Given the description of an element on the screen output the (x, y) to click on. 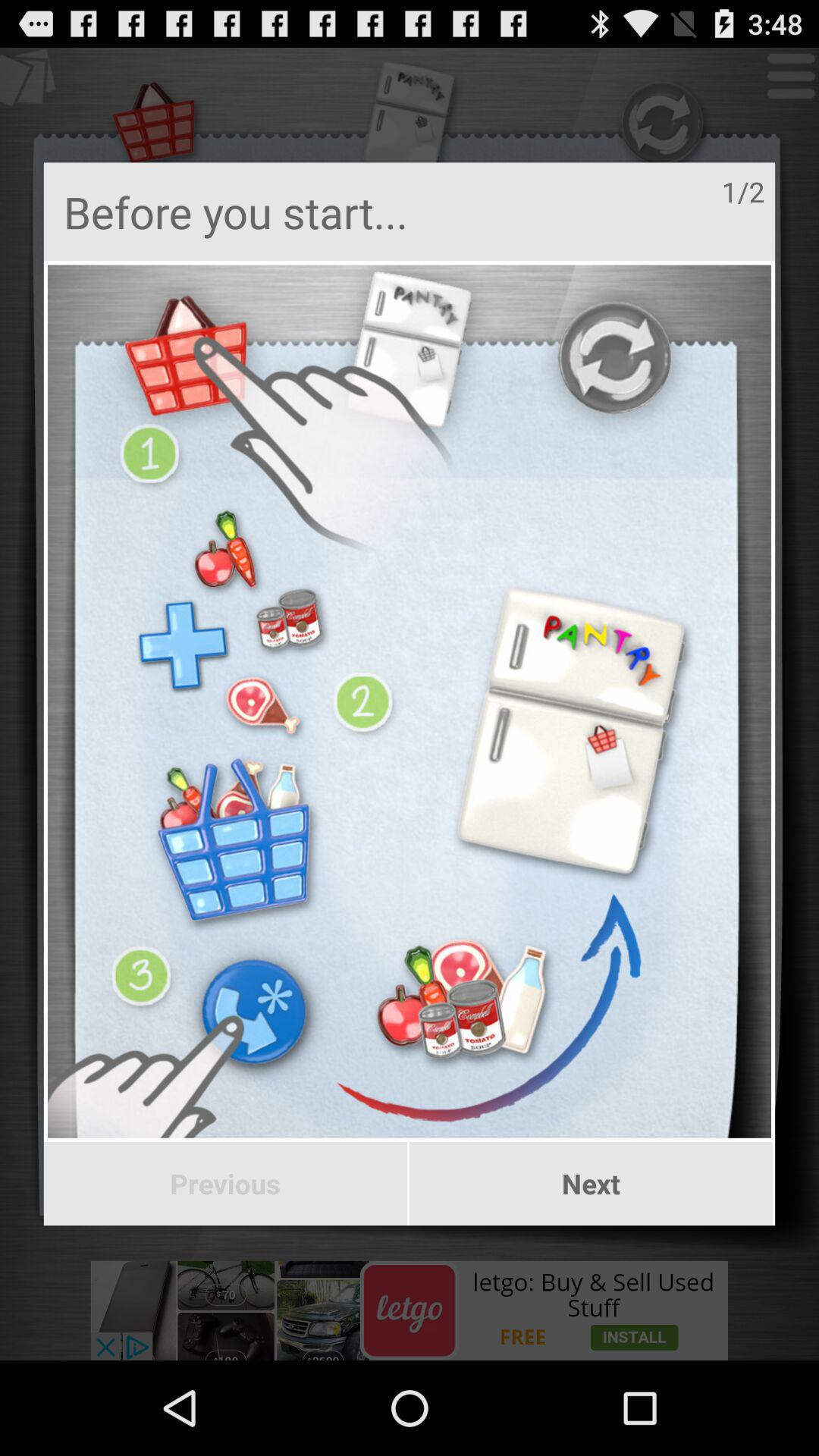
turn on the item to the right of the previous icon (590, 1183)
